Given the description of an element on the screen output the (x, y) to click on. 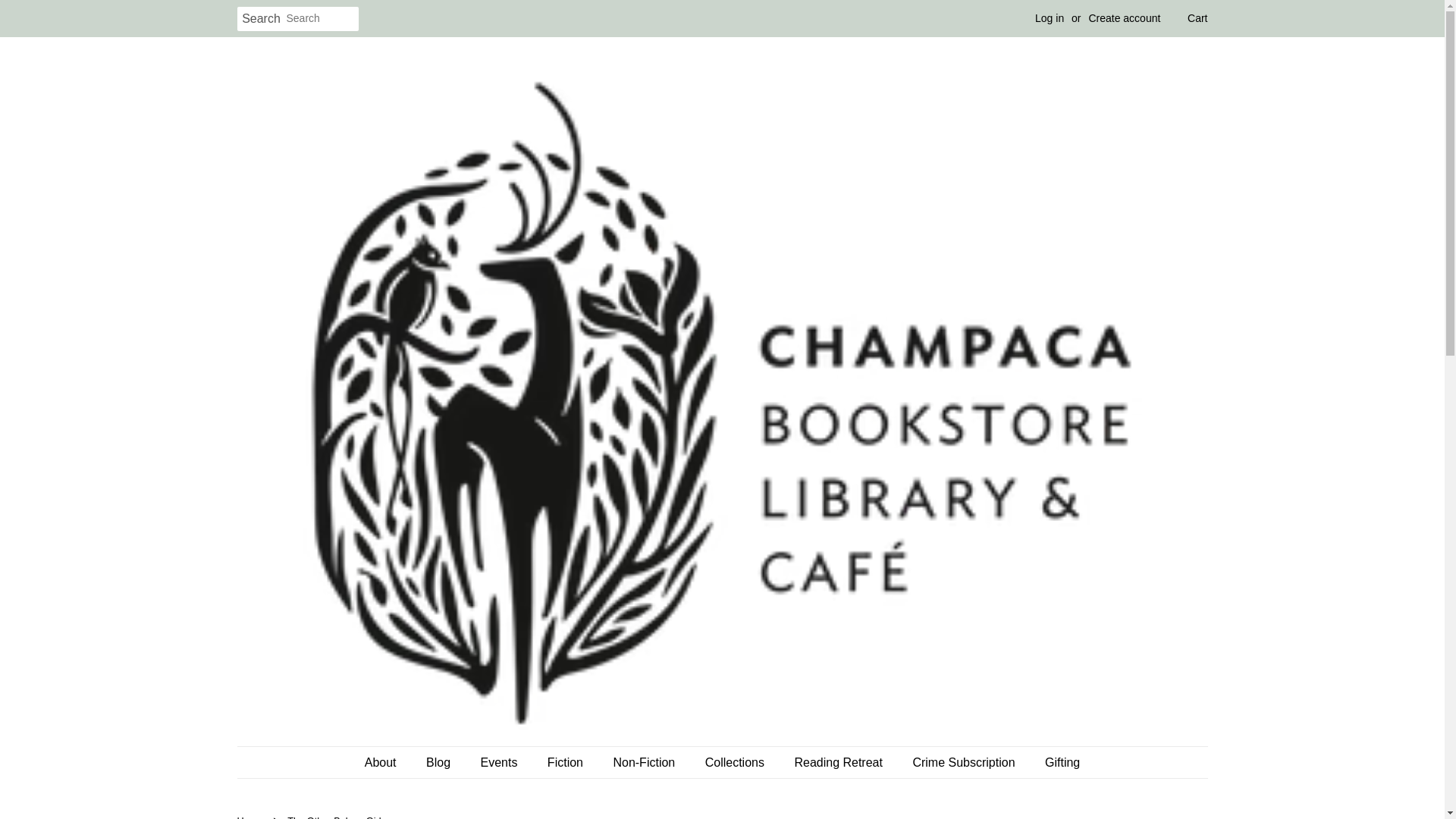
Back to the frontpage (250, 816)
Search (260, 18)
Cart (1197, 18)
Create account (1123, 18)
Log in (1049, 18)
